Given the description of an element on the screen output the (x, y) to click on. 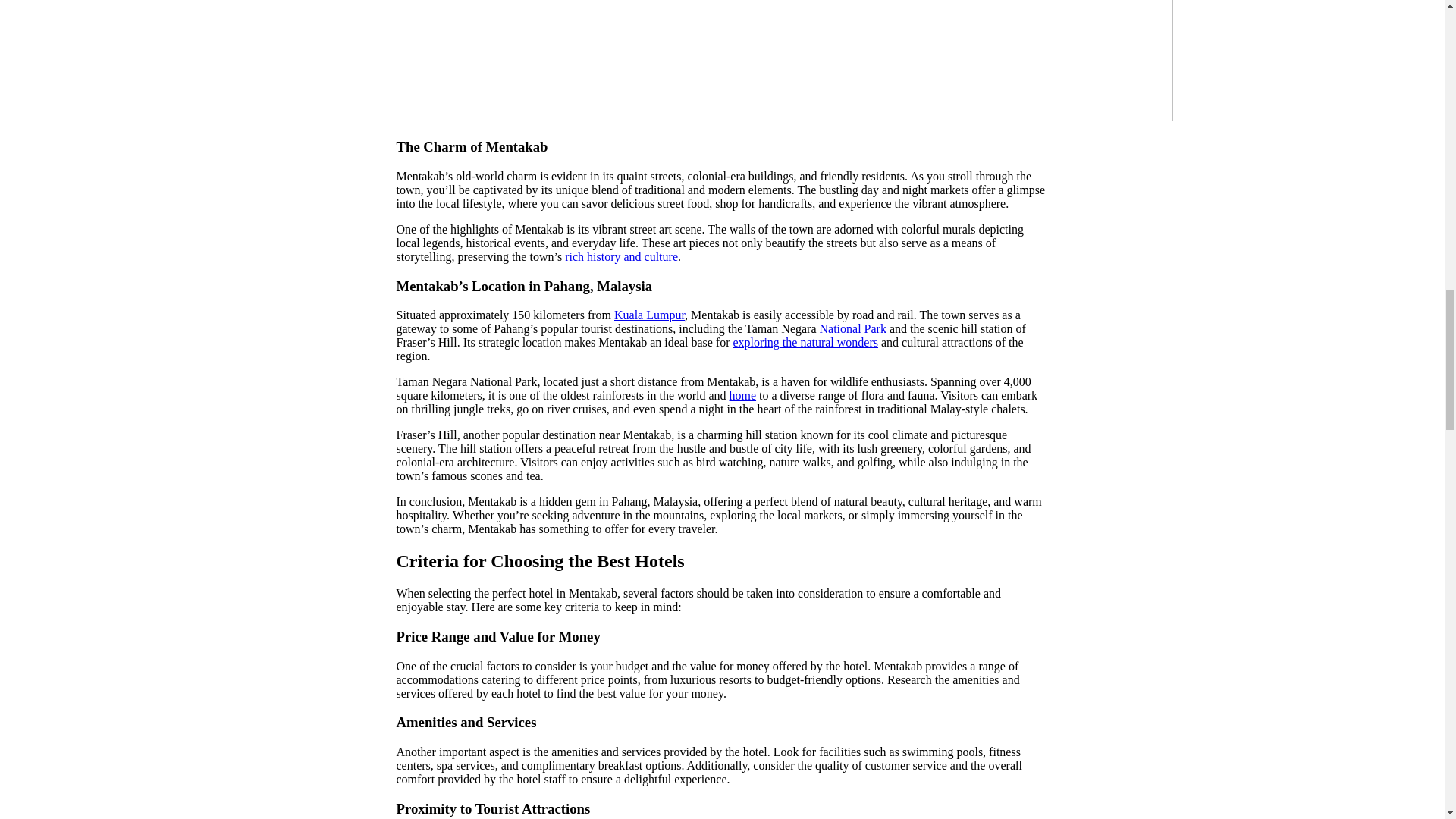
rich history and culture (621, 256)
exploring the natural wonders (806, 341)
National Park (852, 328)
home (743, 395)
Kuala Lumpur (649, 314)
